Given the description of an element on the screen output the (x, y) to click on. 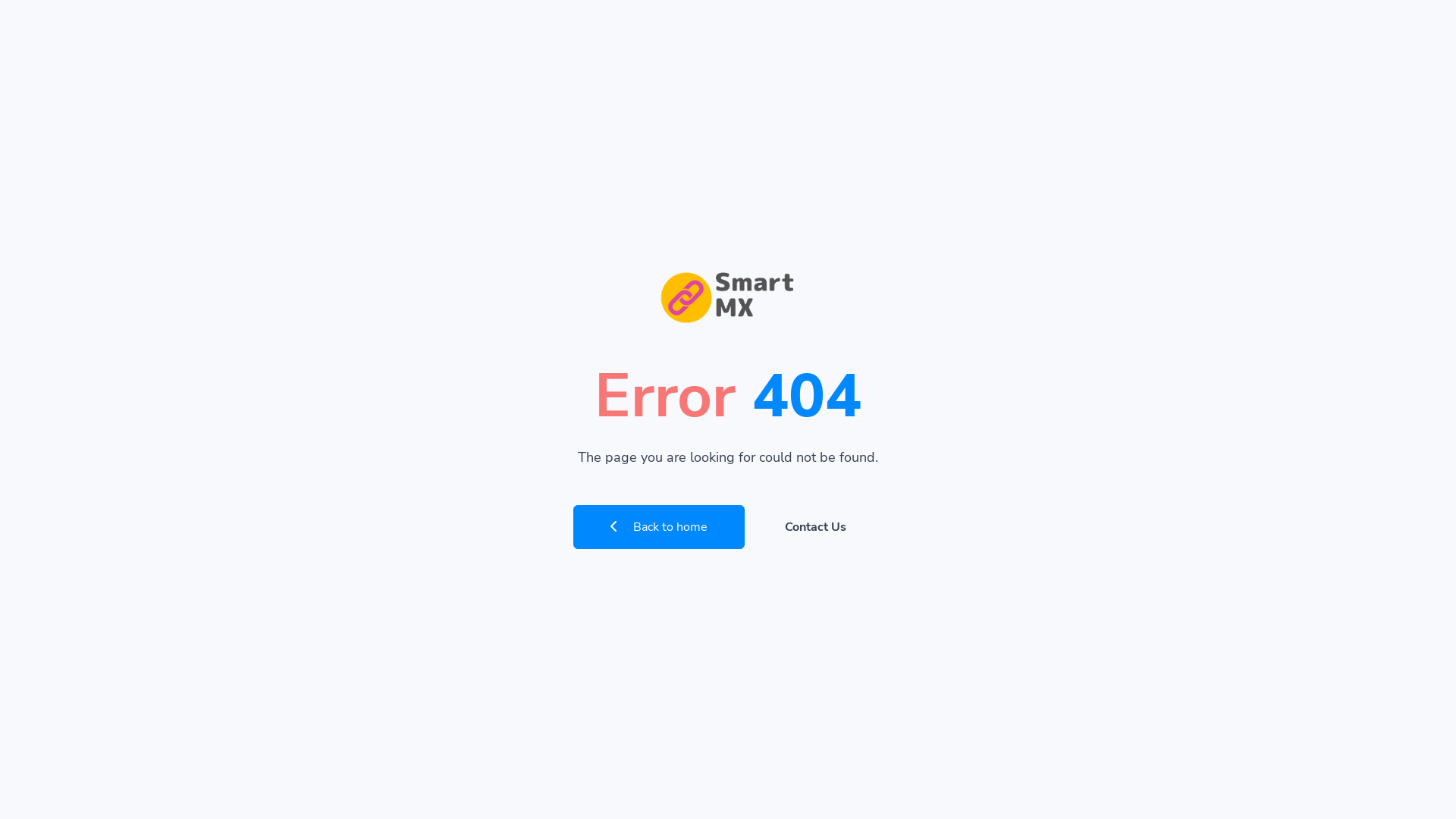
Back to home Element type: text (658, 527)
Contact Us Element type: text (815, 527)
